Given the description of an element on the screen output the (x, y) to click on. 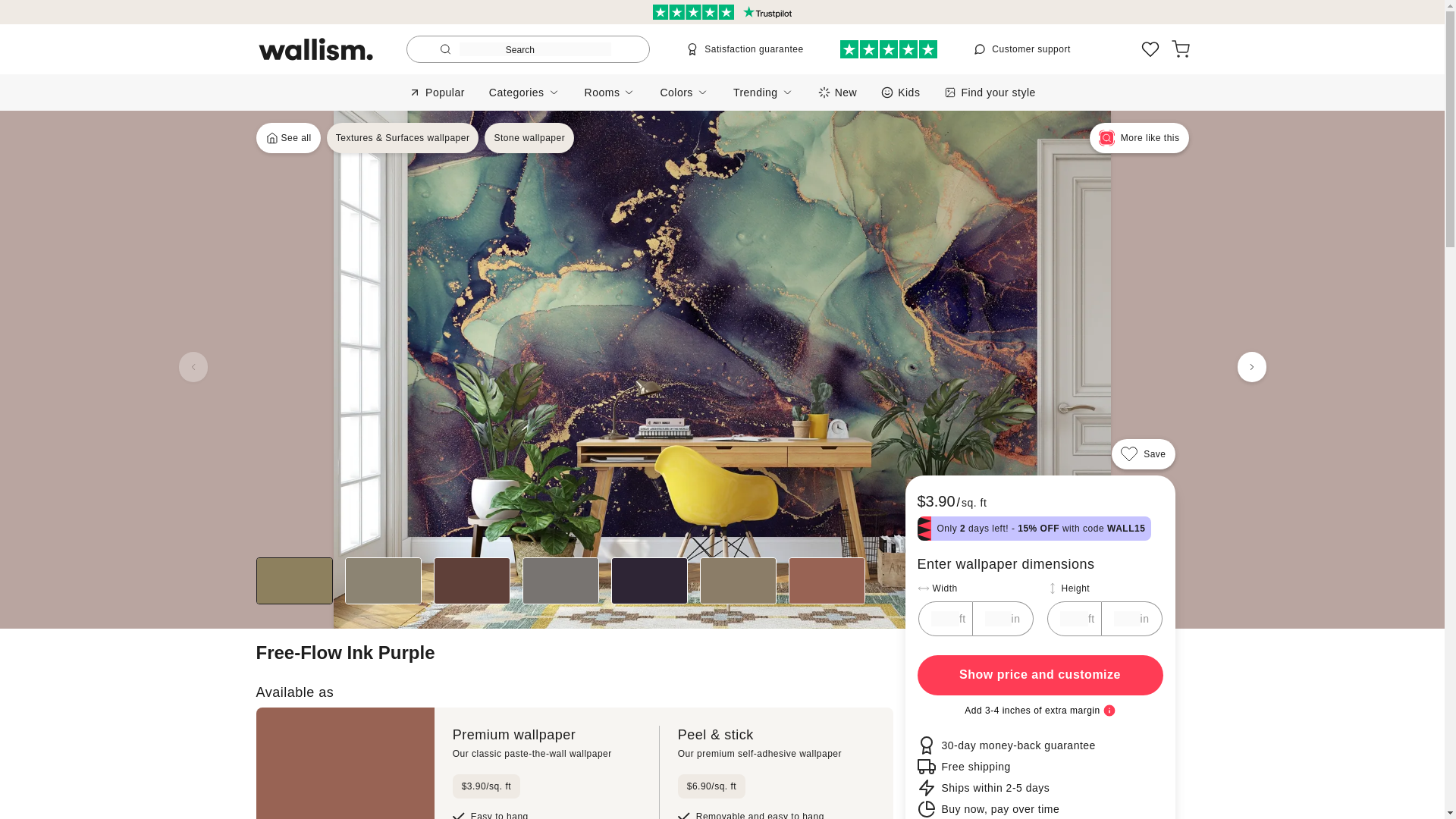
Satisfaction guarantee (744, 49)
Customer support (1022, 49)
Kids (900, 91)
Show price and customize (1040, 675)
See all (288, 137)
New (837, 91)
Popular (436, 91)
